Given the description of an element on the screen output the (x, y) to click on. 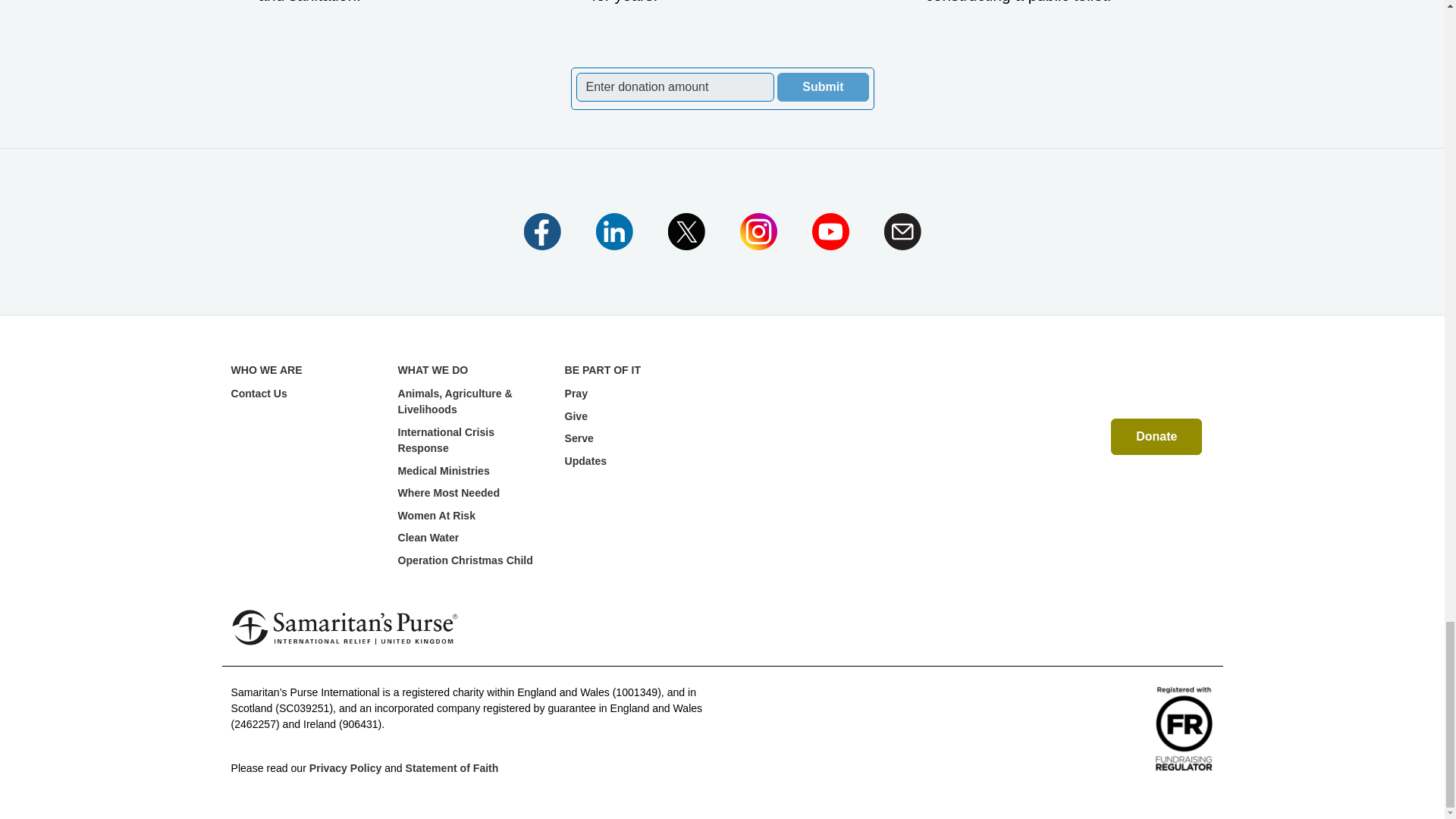
Submit (822, 86)
